Given the description of an element on the screen output the (x, y) to click on. 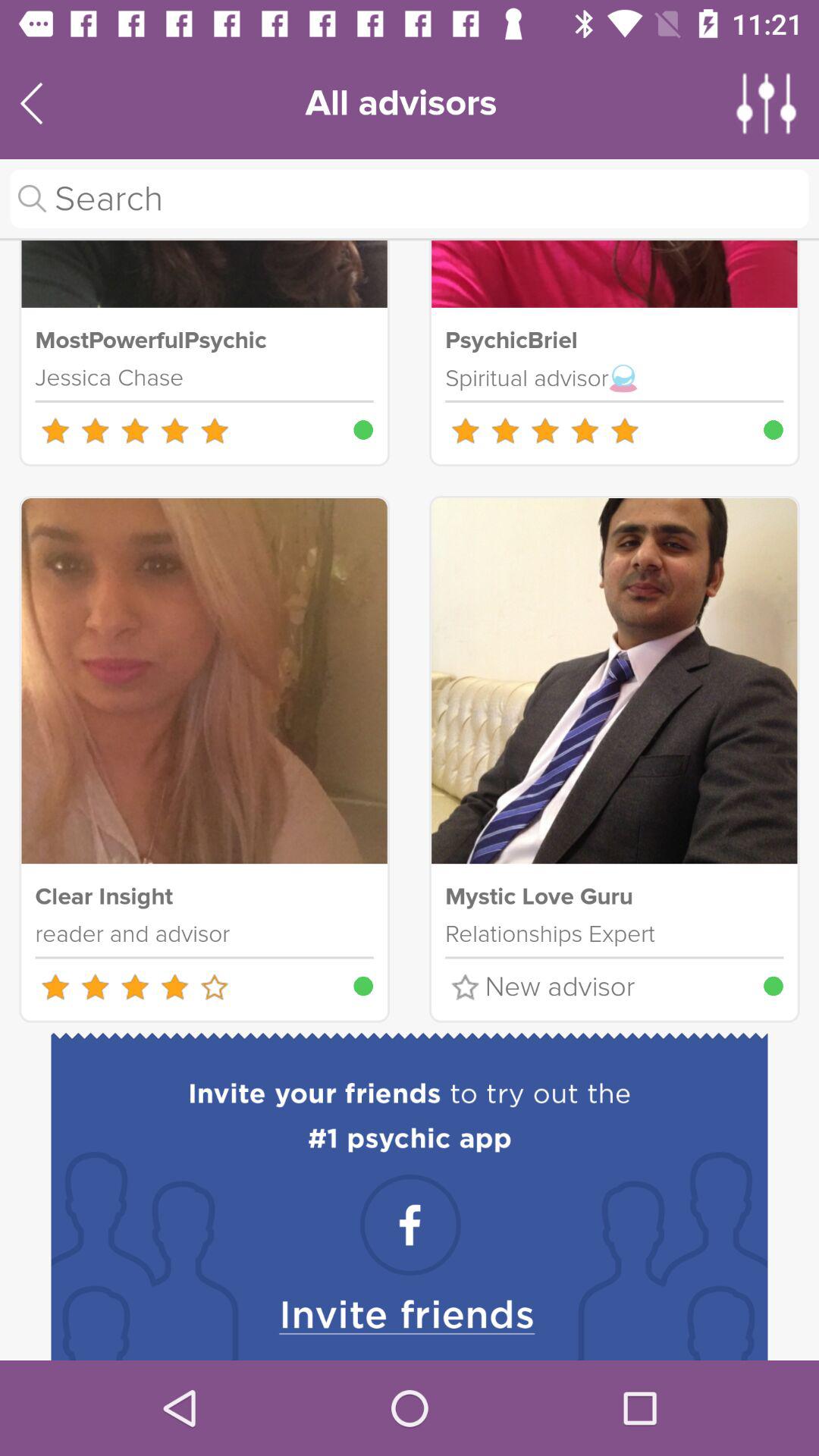
turn off the item to the right of all advisors icon (767, 103)
